Given the description of an element on the screen output the (x, y) to click on. 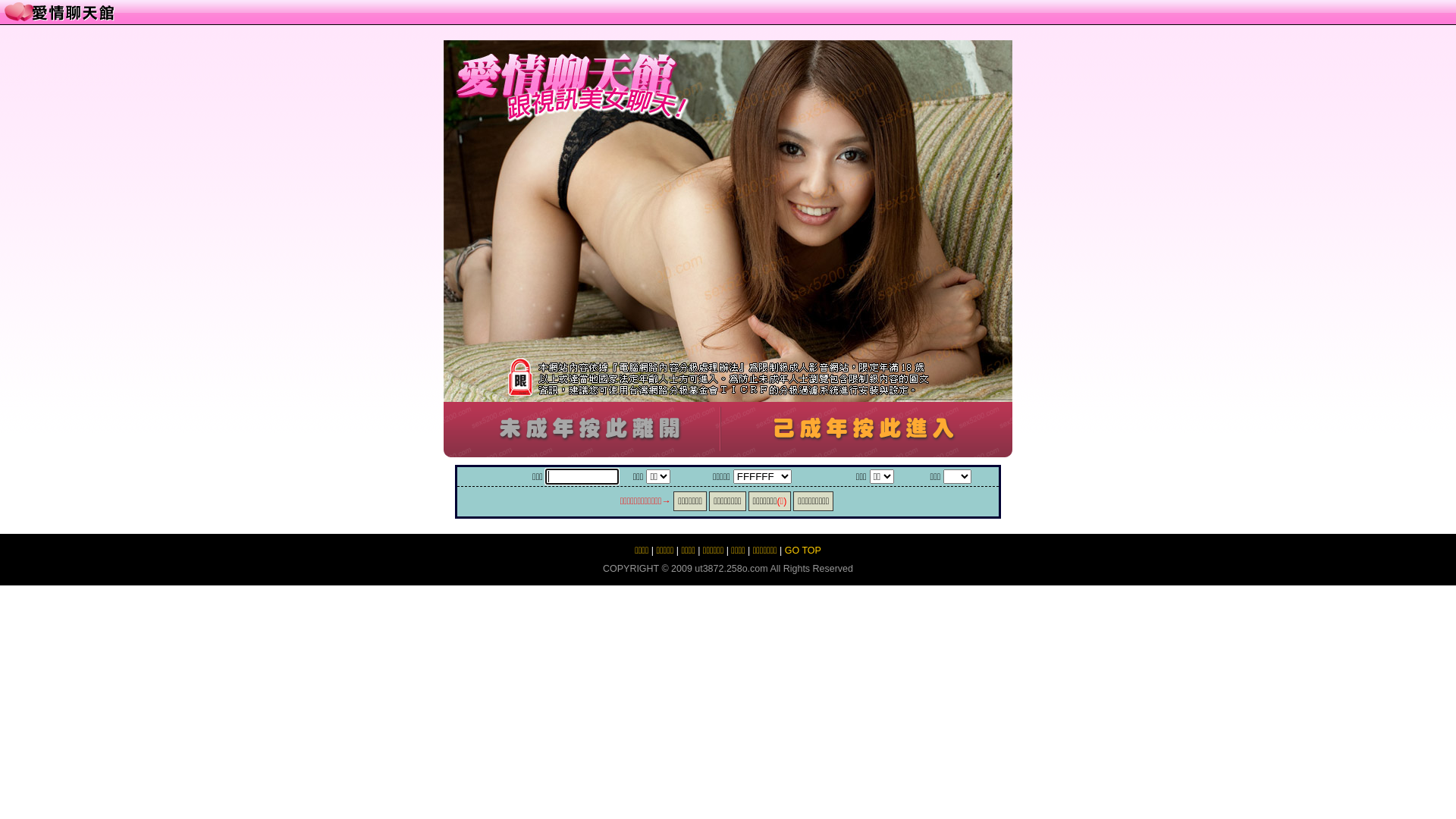
ut3872.258o.com Element type: text (730, 568)
GO TOP Element type: text (802, 550)
